Given the description of an element on the screen output the (x, y) to click on. 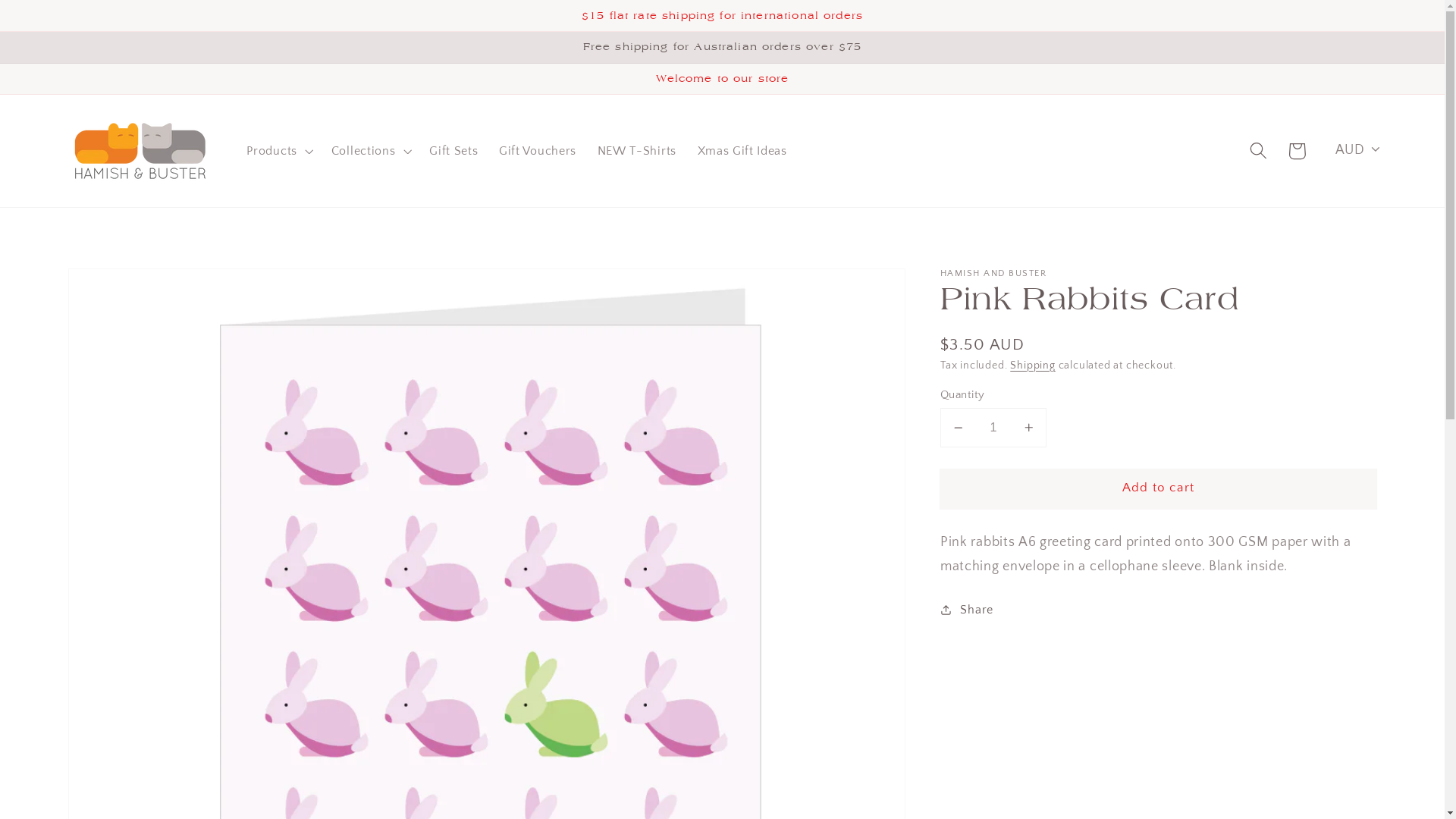
Cart Element type: text (1296, 150)
Increase quantity for Pink Rabbits Card Element type: text (1028, 427)
Gift Vouchers Element type: text (537, 150)
AUD Element type: text (1352, 157)
Gift Sets Element type: text (453, 150)
Skip to product information Element type: text (119, 287)
Shipping Element type: text (1032, 364)
NEW T-Shirts Element type: text (636, 150)
https://hamishandbuster.com.au/products/pink-rabbits Element type: text (1043, 665)
Add to cart Element type: text (1158, 488)
Xmas Gift Ideas Element type: text (742, 150)
Decrease quantity for Pink Rabbits Card Element type: text (958, 427)
